Given the description of an element on the screen output the (x, y) to click on. 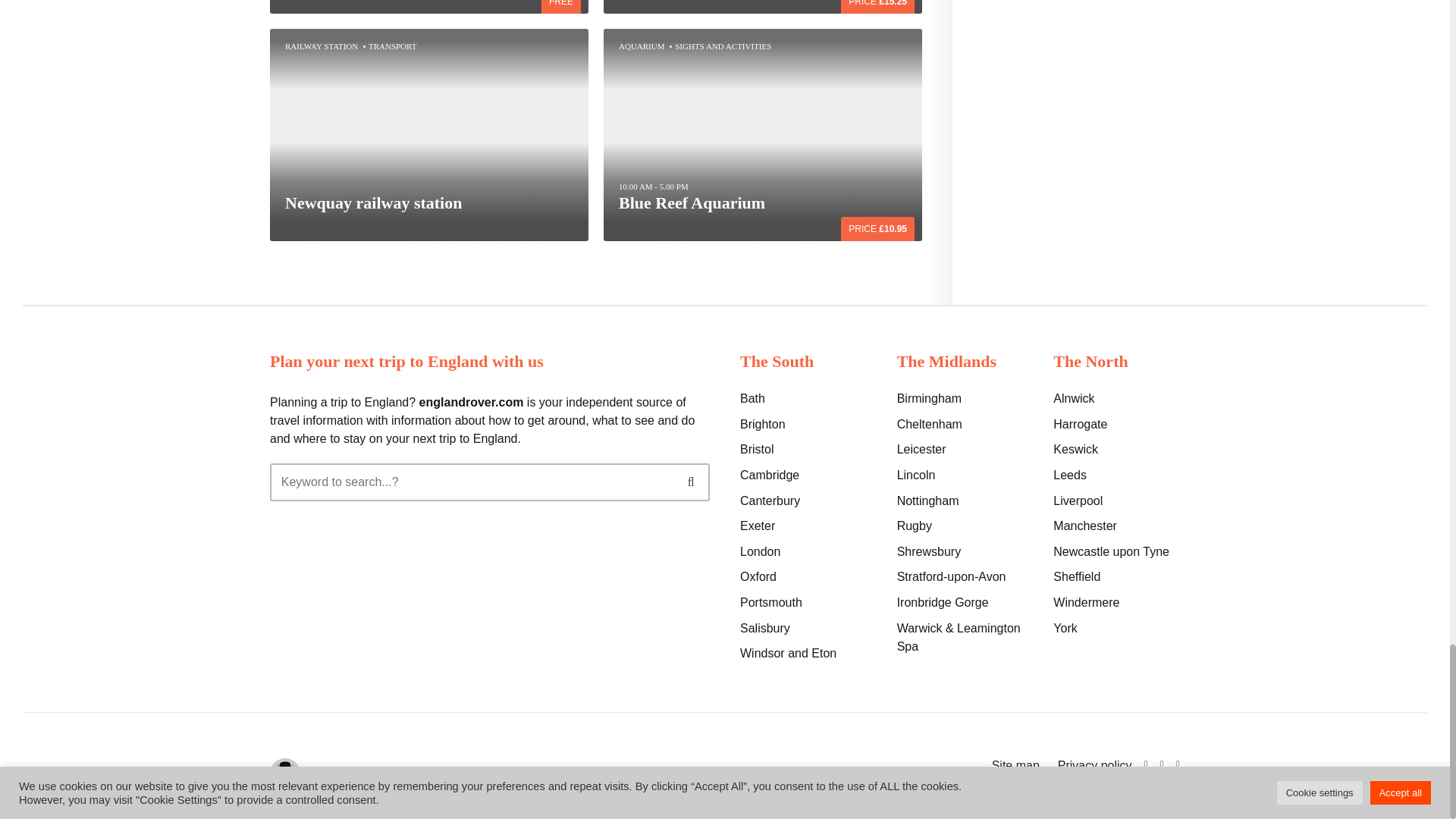
Privacy policy (1091, 766)
Back to England Rover home (284, 773)
Site map (1012, 766)
